Given the description of an element on the screen output the (x, y) to click on. 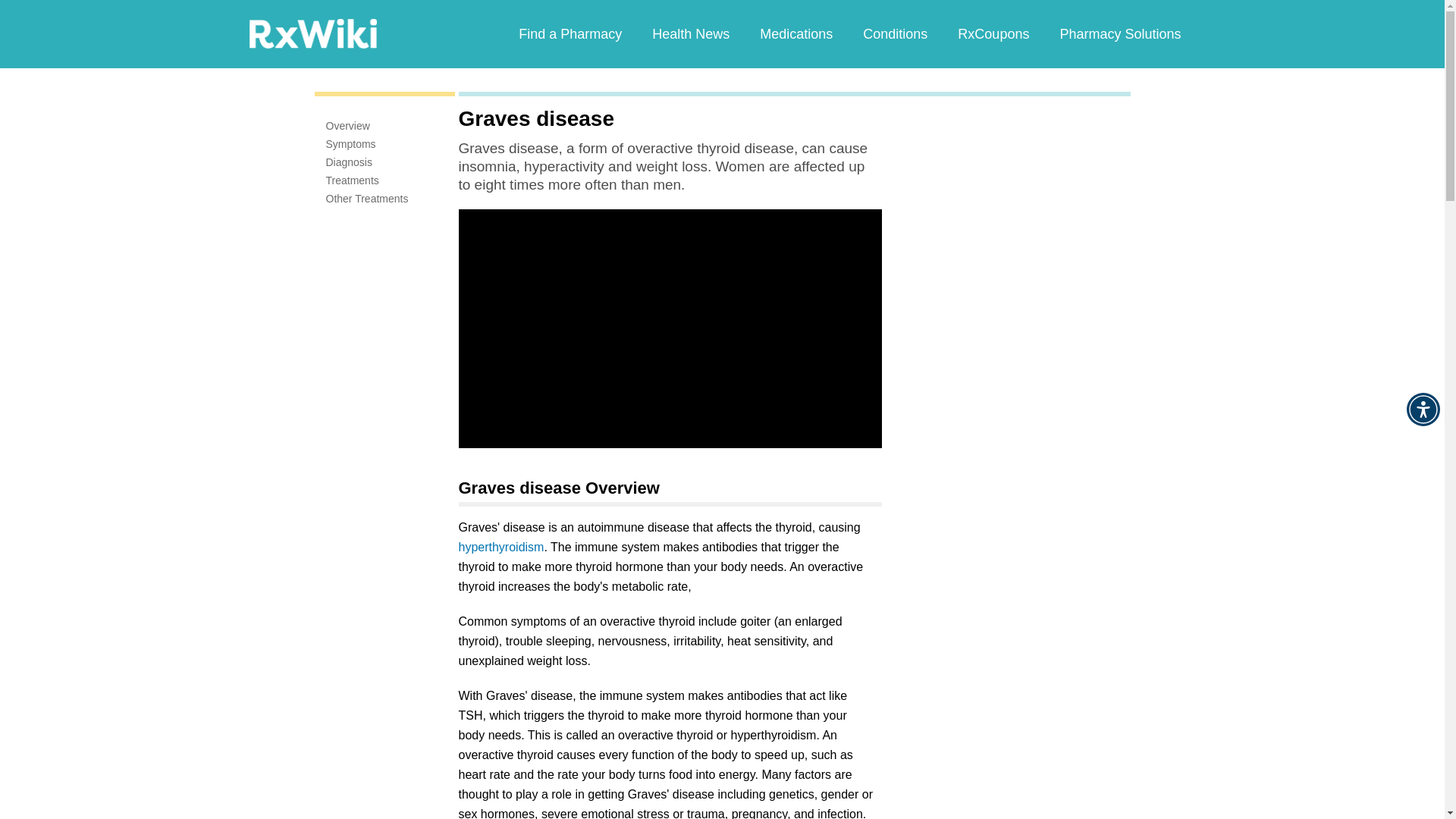
RxWiki (312, 32)
Overview (347, 125)
Find a Pharmacy (570, 33)
Accessibility Menu (1422, 409)
Symptoms (350, 143)
hyperthyroidism (500, 546)
Diagnosis (349, 162)
Treatments (352, 180)
Other Treatments (367, 198)
Health News (690, 33)
Conditions (894, 33)
Medications (795, 33)
Pharmacy Solutions (1119, 33)
RxCoupons (992, 33)
